Given the description of an element on the screen output the (x, y) to click on. 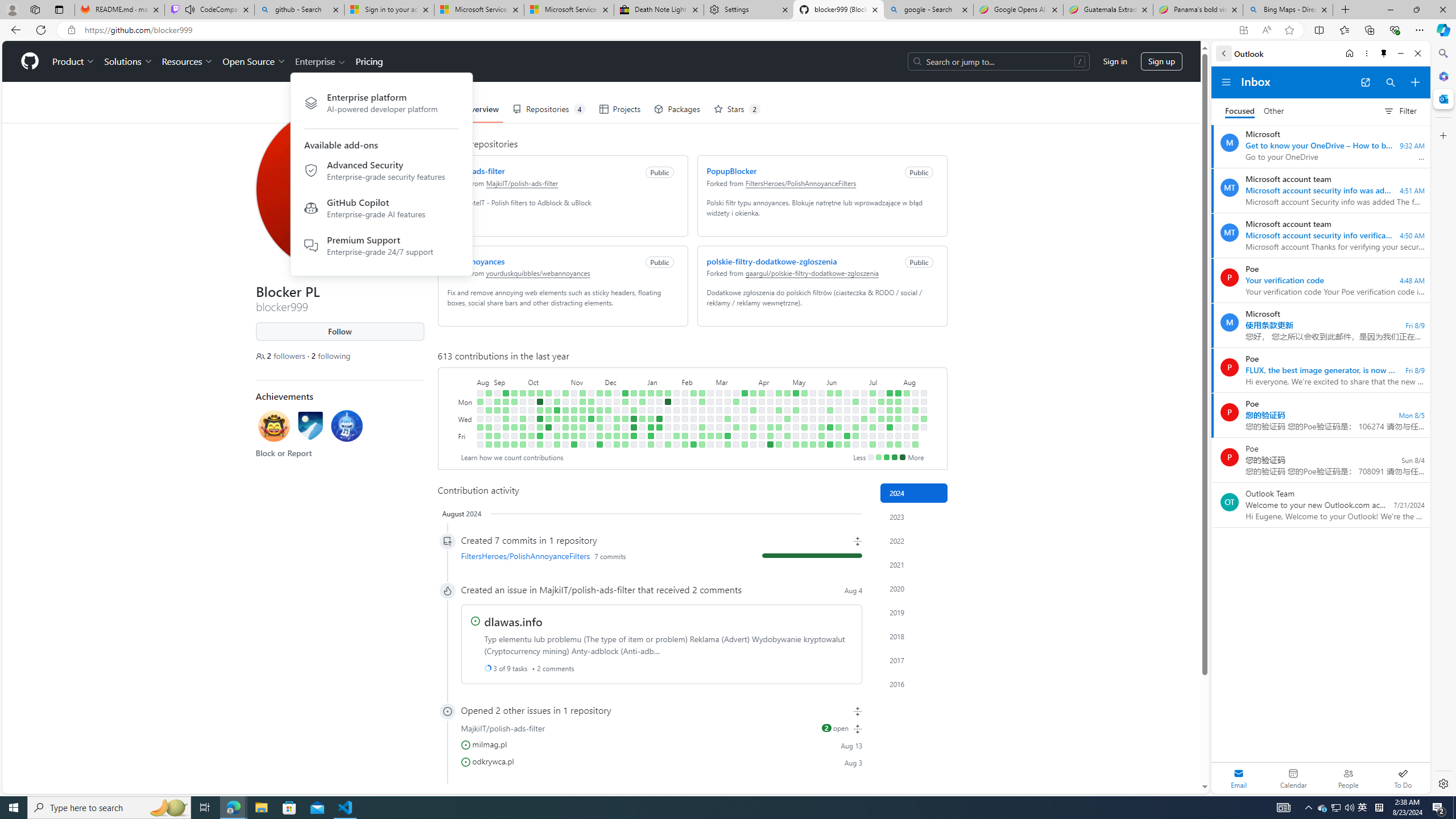
No contributions on March 25th. (744, 401)
5 contributions on December 14th. (616, 427)
2 contributions on August 24th. (479, 427)
3 contributions on December 18th. (624, 401)
No contributions on August 1st. (897, 427)
No contributions on October 22nd. (556, 392)
Close Outlook pane (1442, 98)
Advanced SecurityEnterprise-grade security features (381, 172)
No contributions on November 5th. (573, 392)
MajkiIT/polish-ads-filter (586, 589)
App bar (728, 29)
Homepage (29, 61)
3 contributions on November 10th. (573, 435)
